Given the description of an element on the screen output the (x, y) to click on. 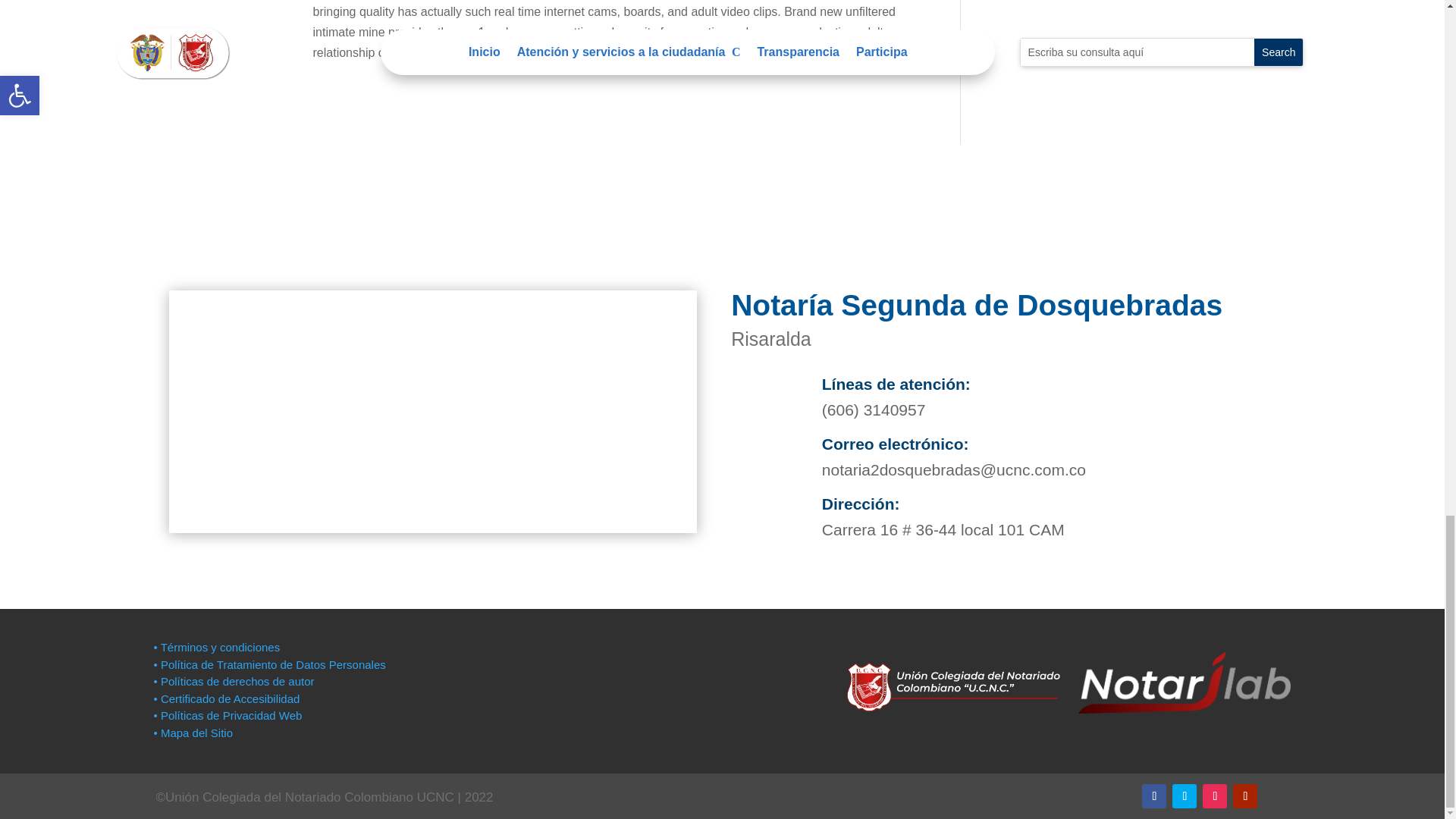
Certificado de Accesibilidad (225, 698)
Follow on Instagram (1214, 795)
Mapa del Sitio (193, 732)
Follow on Twitter (1184, 795)
Follow on Facebook (1153, 795)
Follow on Youtube (1245, 795)
